Given the description of an element on the screen output the (x, y) to click on. 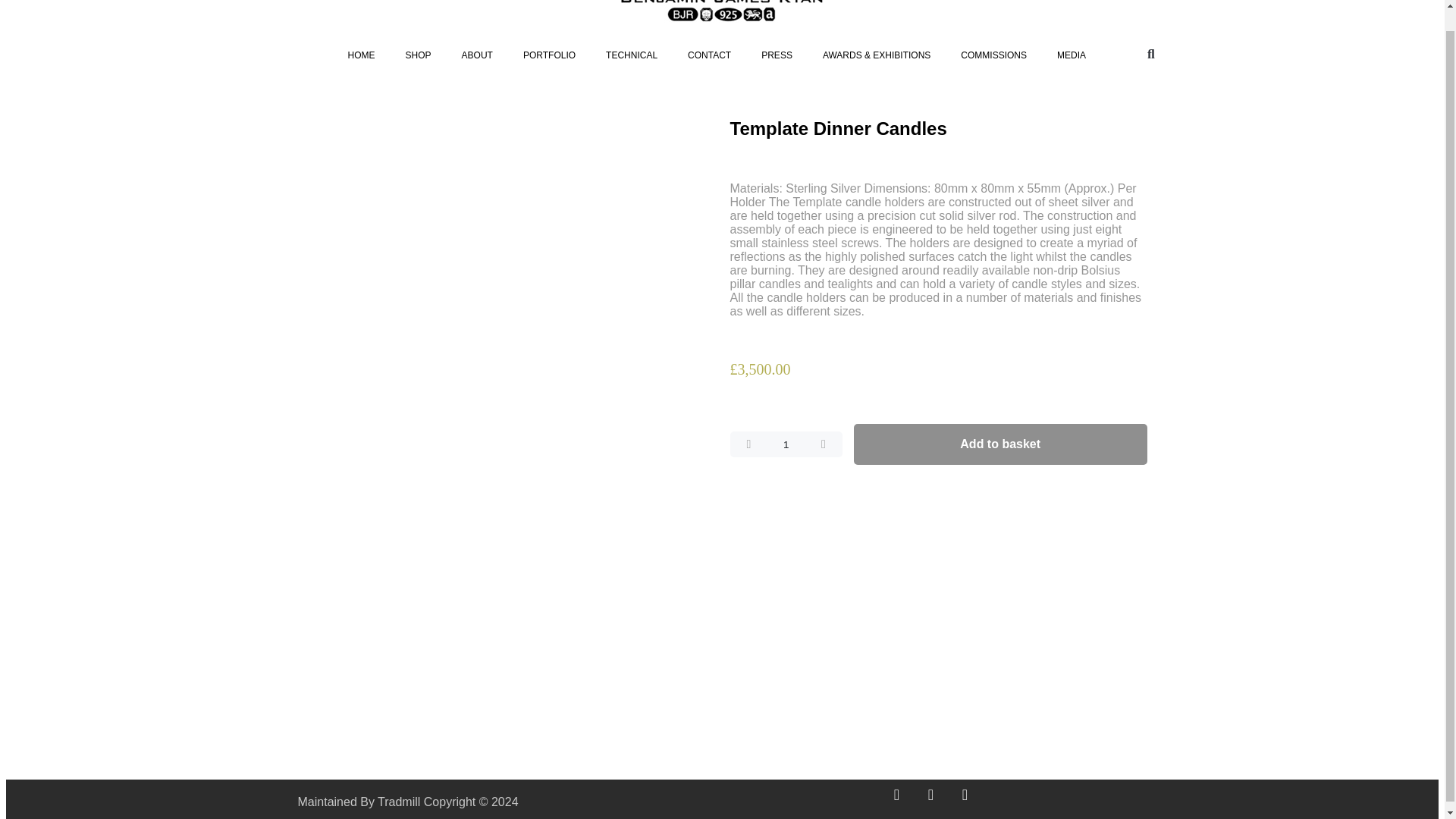
SHOP (418, 54)
1 (785, 444)
TECHNICAL (631, 54)
PRESS (776, 54)
HOME (361, 54)
ABOUT (477, 54)
CONTACT (708, 54)
COMMISSIONS (993, 54)
MEDIA (1071, 54)
PORTFOLIO (549, 54)
